Given the description of an element on the screen output the (x, y) to click on. 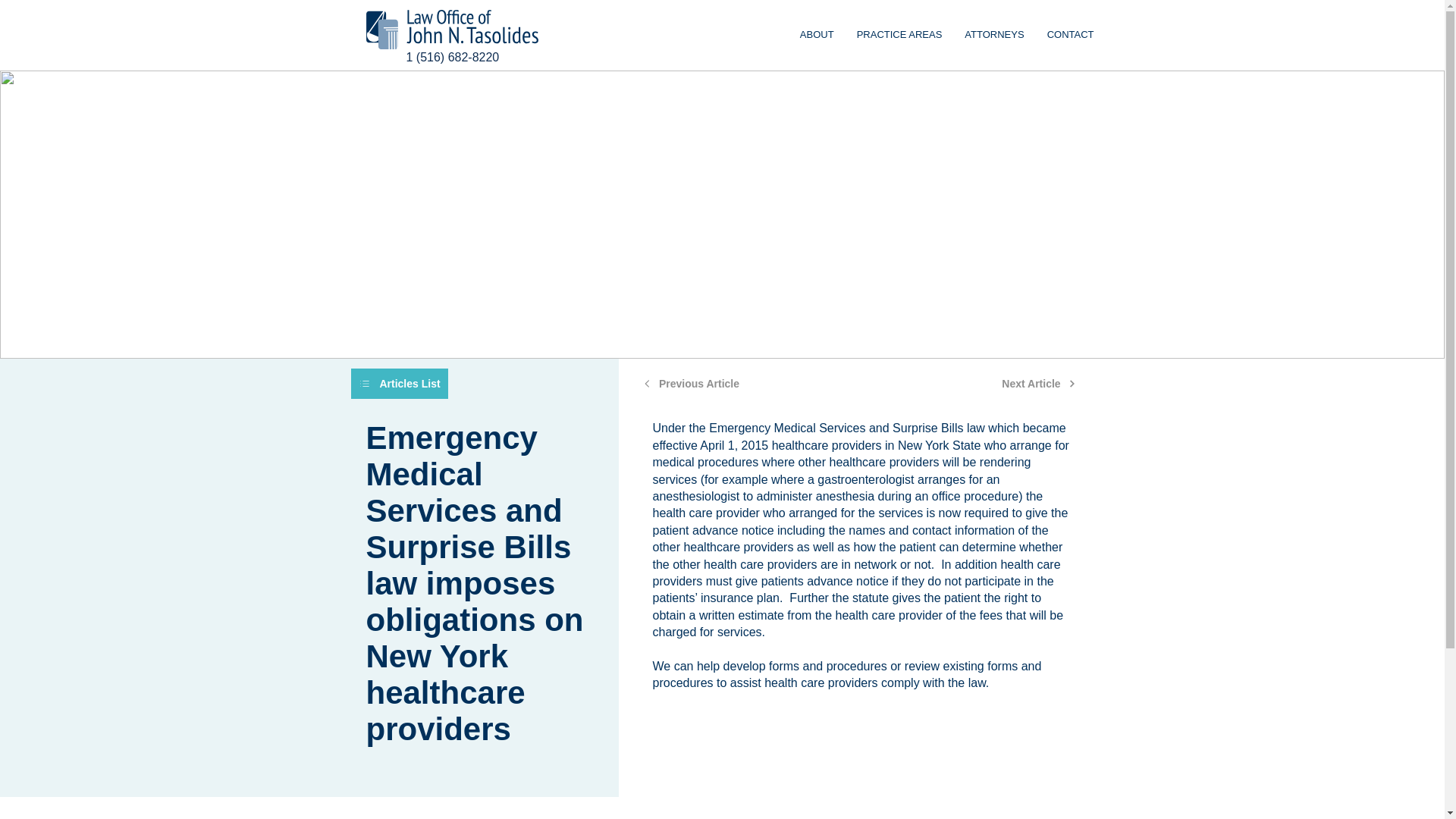
ABOUT (862, 35)
PRACTICE AREAS (816, 35)
Next Article (899, 35)
Articles List (1039, 383)
Previous Article (398, 383)
ATTORNEYS (691, 383)
CONTACT (993, 35)
